Given the description of an element on the screen output the (x, y) to click on. 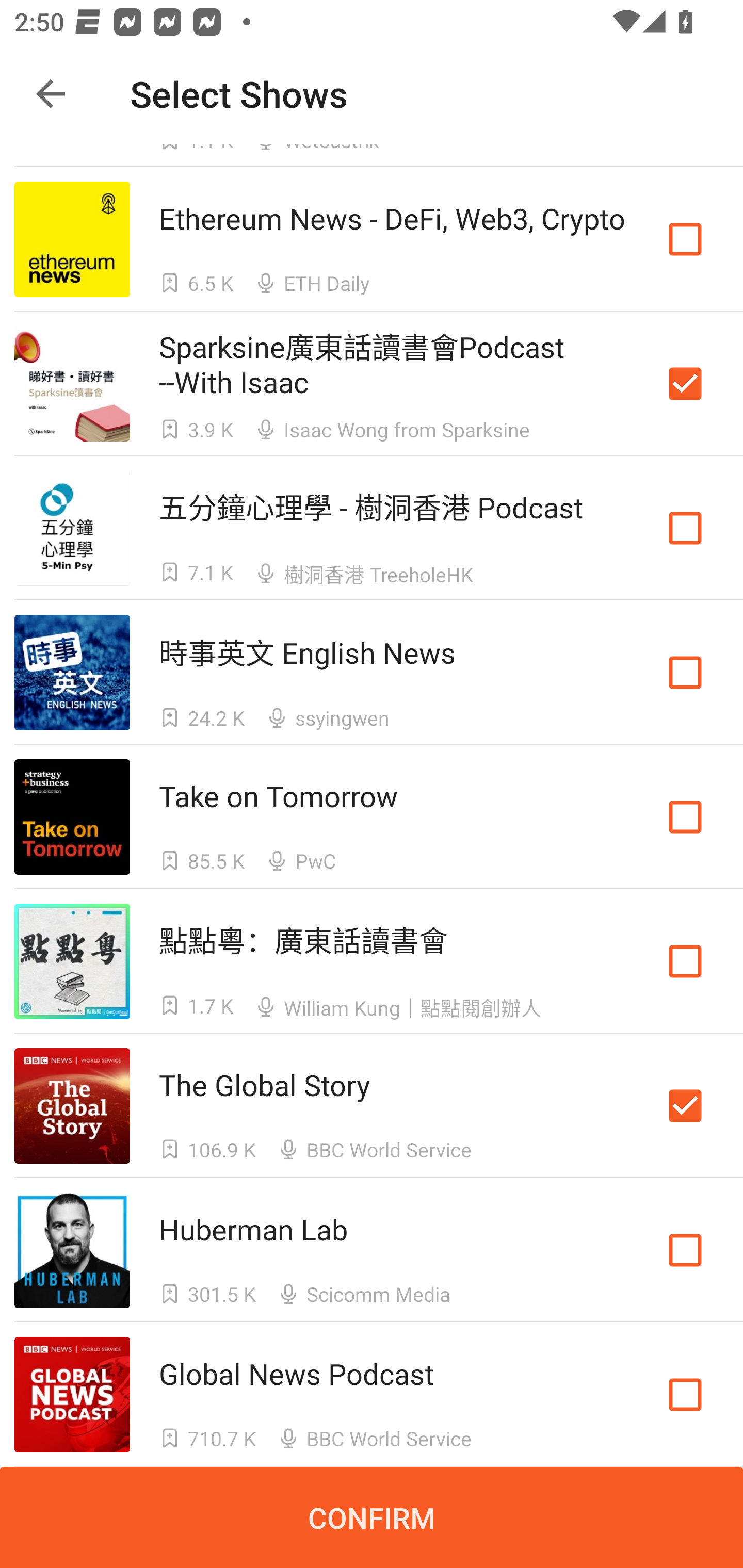
Navigate up (50, 93)
Take on Tomorrow Take on Tomorrow  85.5 K  PwC (371, 816)
CONFIRM (371, 1517)
